Given the description of an element on the screen output the (x, y) to click on. 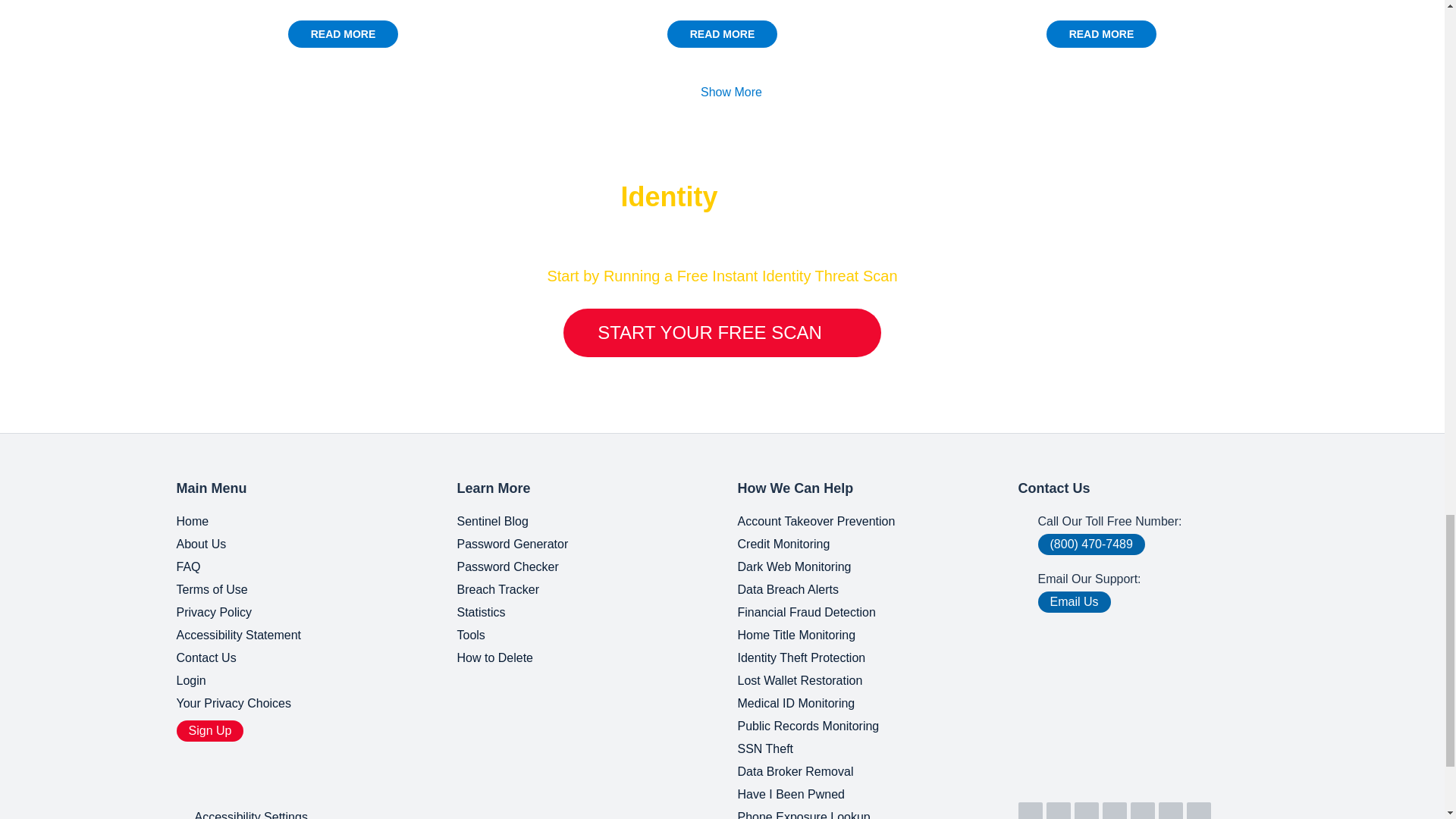
Twitter (1085, 810)
Instagram (1141, 810)
Facebook (1114, 810)
Podcast (1170, 810)
LinkedIn (1029, 810)
YouTube (1058, 810)
Threads (1197, 810)
